Given the description of an element on the screen output the (x, y) to click on. 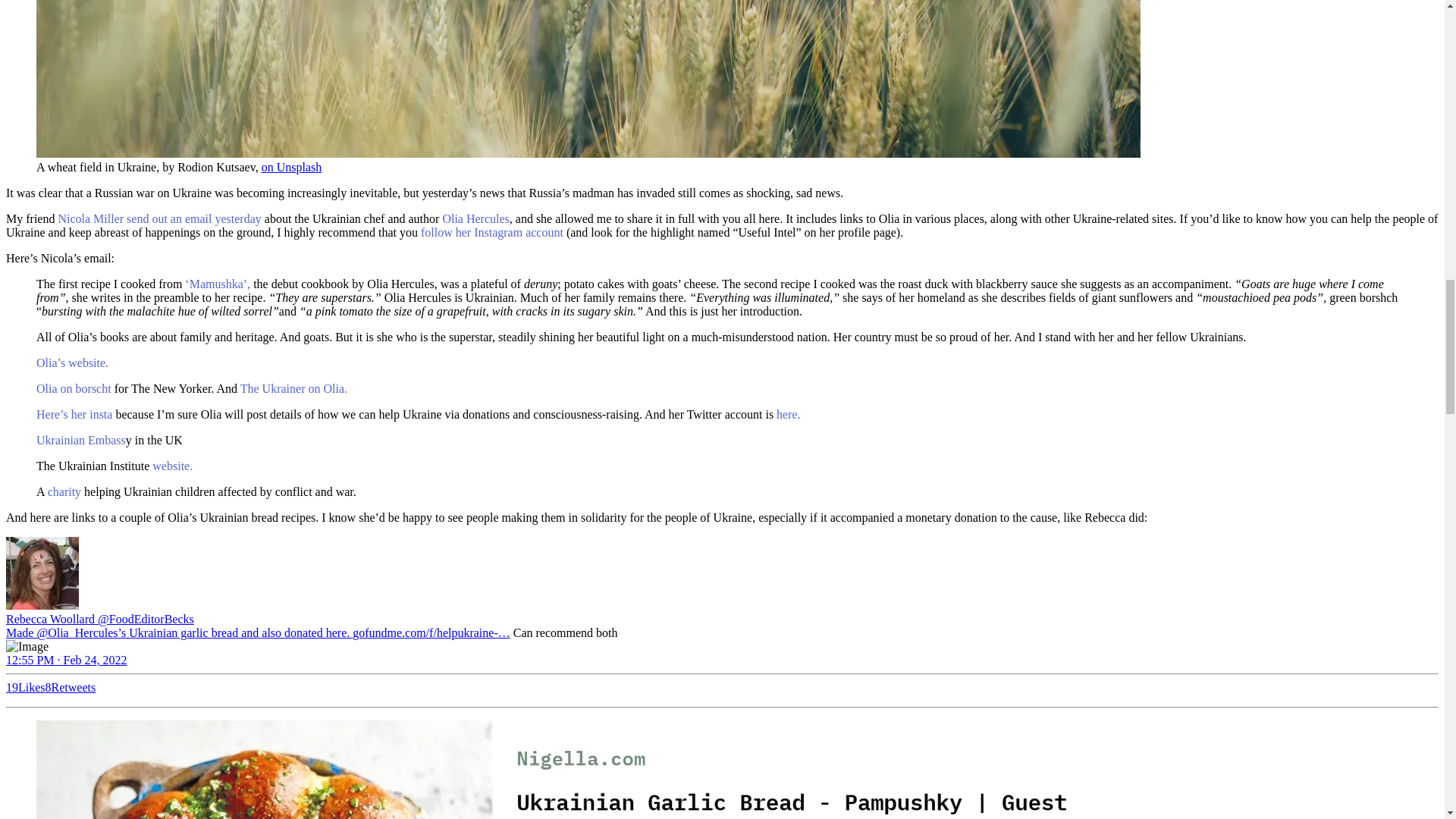
charity (64, 491)
here. (788, 413)
follow her Instagram account (491, 232)
Nicola Miller send out an email yesterday (159, 218)
The Ukrainer on Olia. (293, 388)
Olia on borscht (74, 388)
website. (172, 465)
on Unsplash (291, 166)
Olia Hercules (475, 218)
Ukrainian Embass (80, 440)
